Given the description of an element on the screen output the (x, y) to click on. 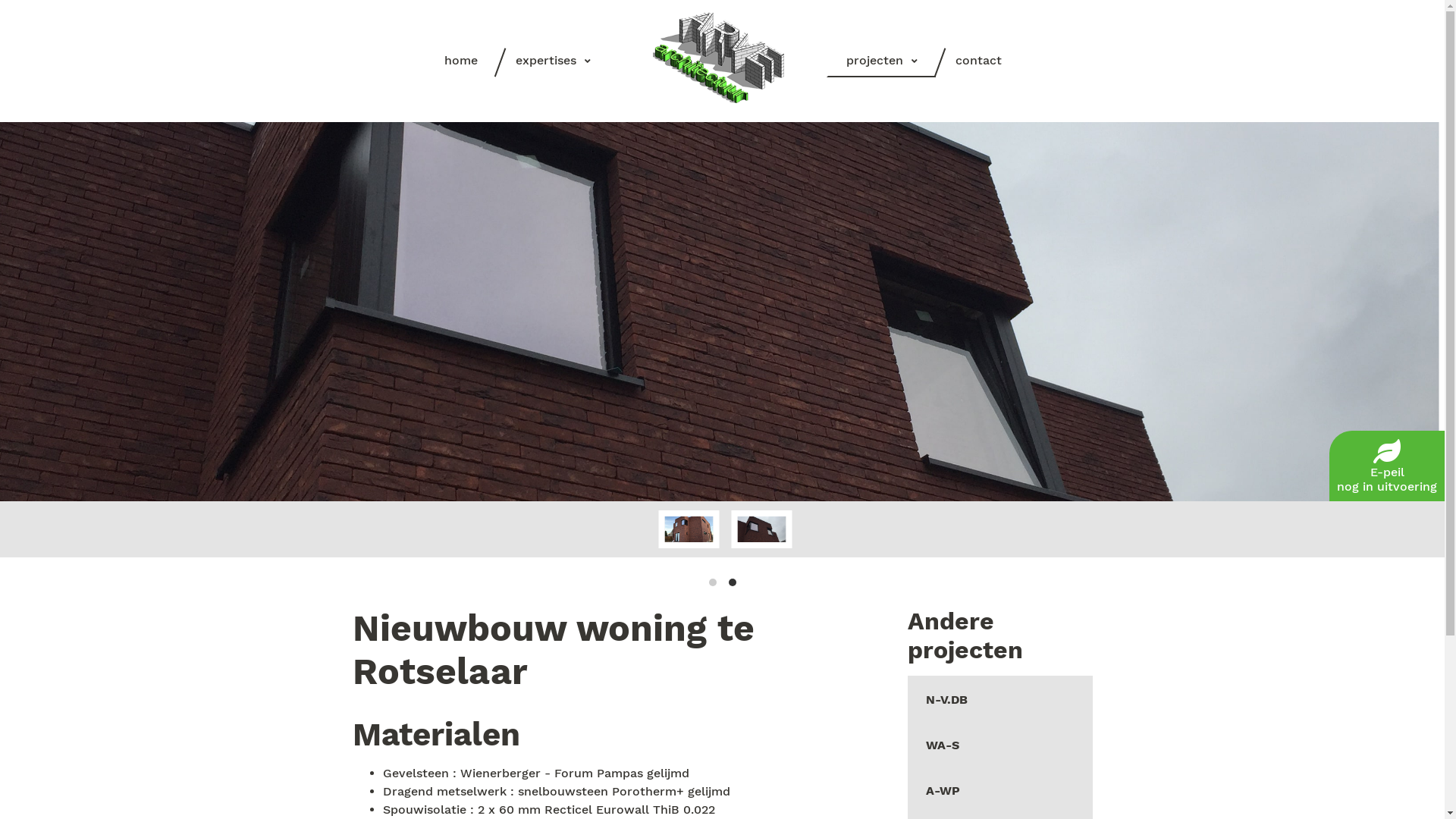
WA-S Element type: text (999, 743)
home Element type: text (460, 60)
A-WP Element type: text (999, 789)
contact Element type: text (978, 60)
expertises Element type: text (552, 60)
projecten Element type: text (881, 60)
N-V.DB Element type: text (999, 698)
